Given the description of an element on the screen output the (x, y) to click on. 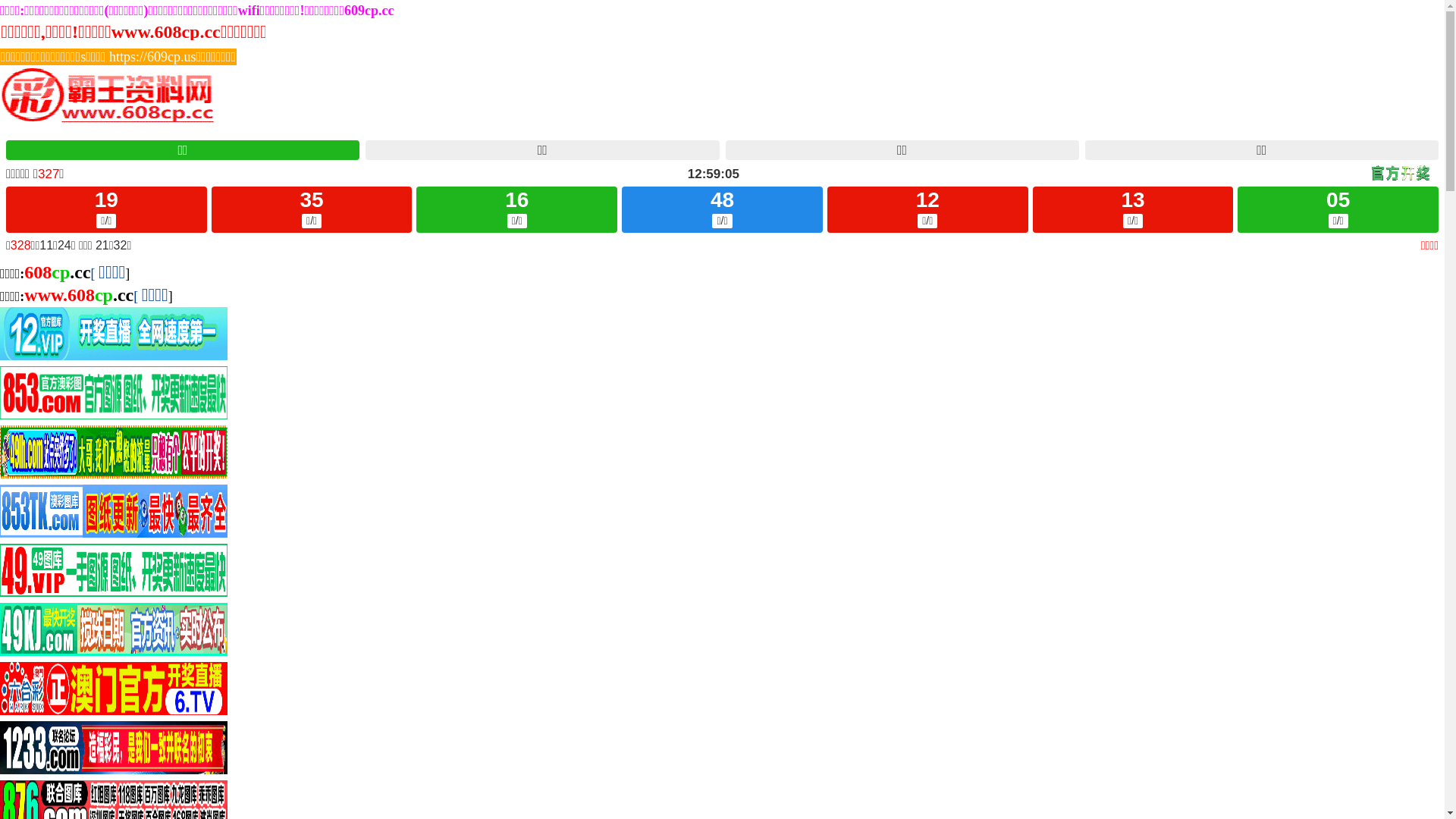
608cp.cc[ Element type: text (59, 273)
www.608cp.cc[ Element type: text (81, 296)
